Given the description of an element on the screen output the (x, y) to click on. 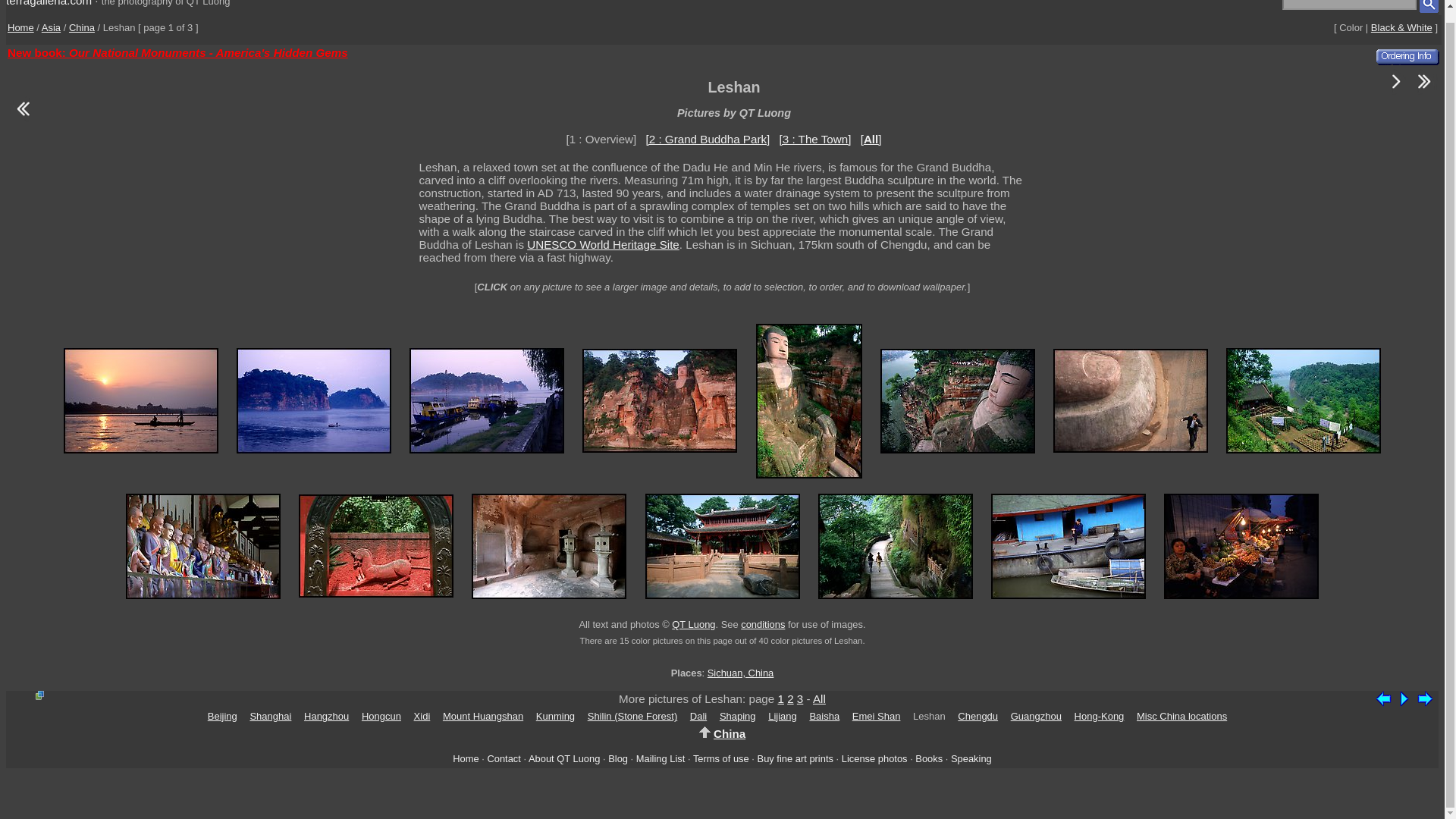
Sichuan, China (740, 672)
Next set of pictures: Chengdu (1424, 90)
conditions (762, 624)
QT Luong (692, 624)
All (818, 698)
More pictures of Leshan (1396, 90)
New book: Our National Monuments - America's Hidden Gems (177, 51)
Previous set of pictures: Emei Shan (22, 117)
UNESCO World Heritage Site (603, 244)
Home (20, 27)
